Given the description of an element on the screen output the (x, y) to click on. 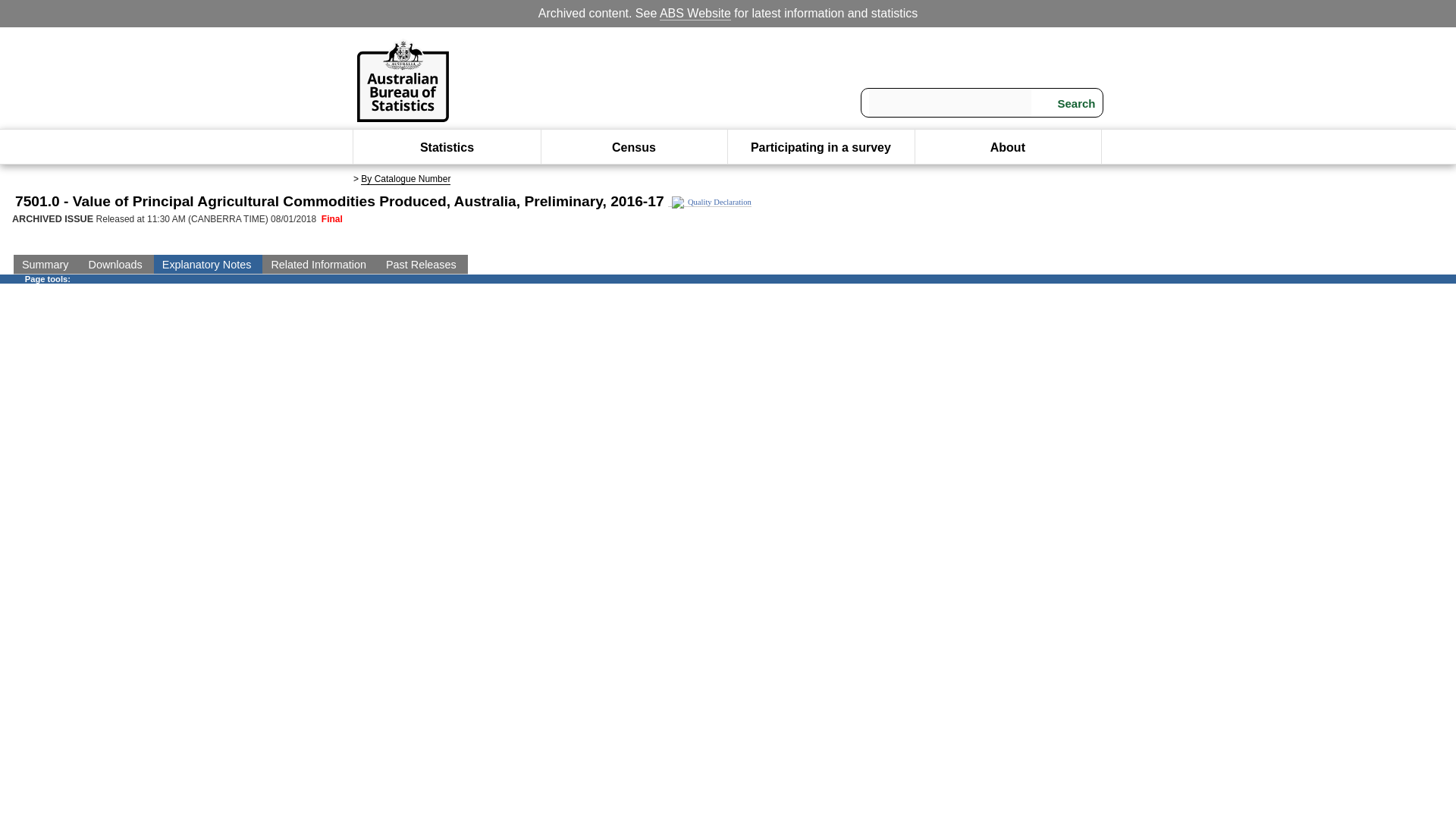
Past Releases (422, 264)
Downloads (117, 264)
Explanatory Notes (208, 264)
About (1007, 147)
Quality Declaration (709, 202)
Statistics (447, 147)
Summary (46, 264)
Participating in a survey (821, 147)
Related Information (319, 264)
Search (1066, 102)
